Given the description of an element on the screen output the (x, y) to click on. 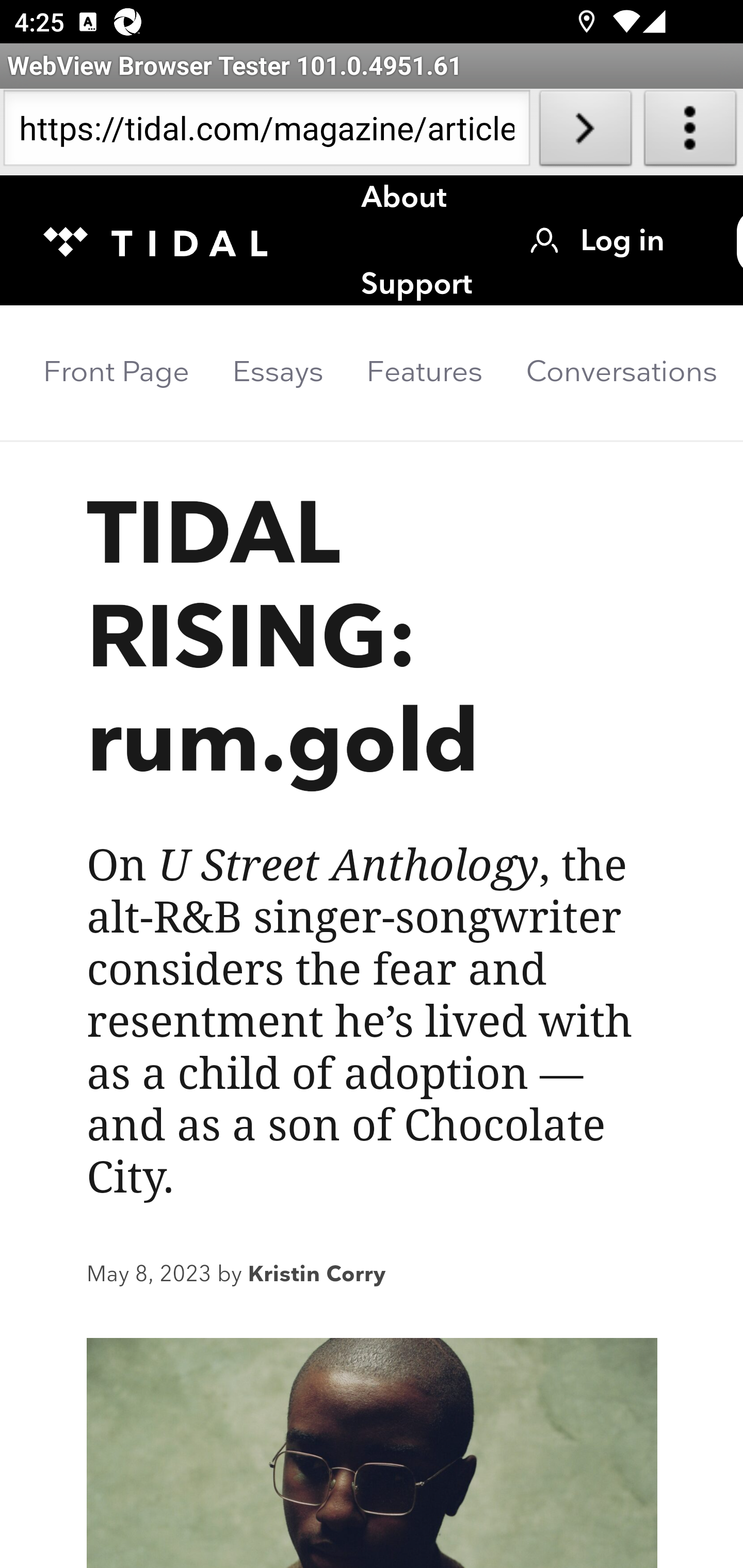
Load URL (585, 132)
About WebView (690, 132)
About (404, 202)
Log in (597, 241)
TIDAL (177, 240)
Support (417, 284)
Front Page (116, 372)
Essays (278, 372)
Features (423, 372)
Conversations (621, 372)
Kristin Corry (317, 1276)
